Given the description of an element on the screen output the (x, y) to click on. 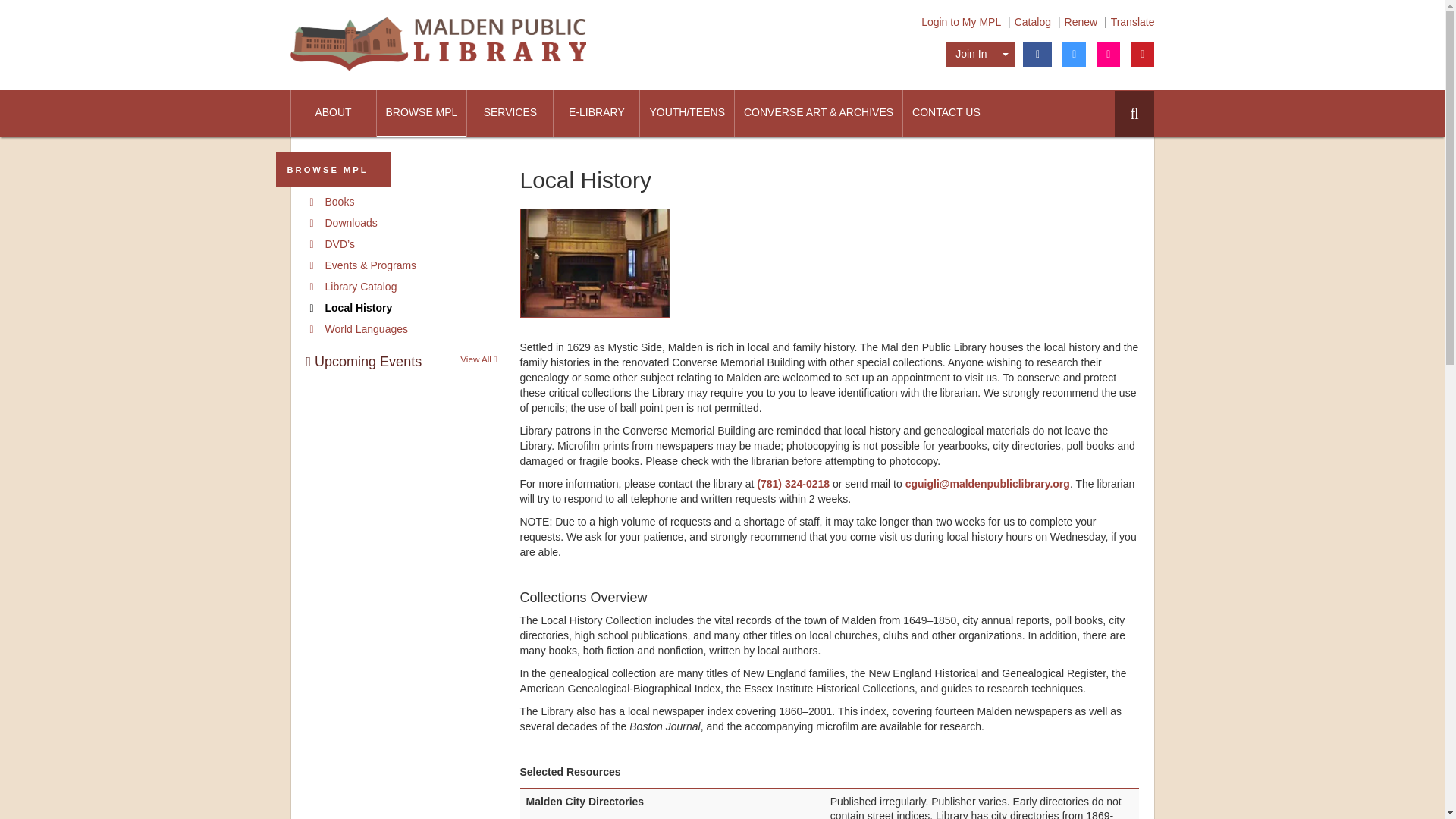
ABOUT (333, 113)
BROWSE MPL (420, 113)
Renew (1080, 21)
Translate (1132, 21)
Join In (969, 54)
SERVICES (510, 113)
Login to My MPL (961, 21)
Catalog (1032, 21)
